Given the description of an element on the screen output the (x, y) to click on. 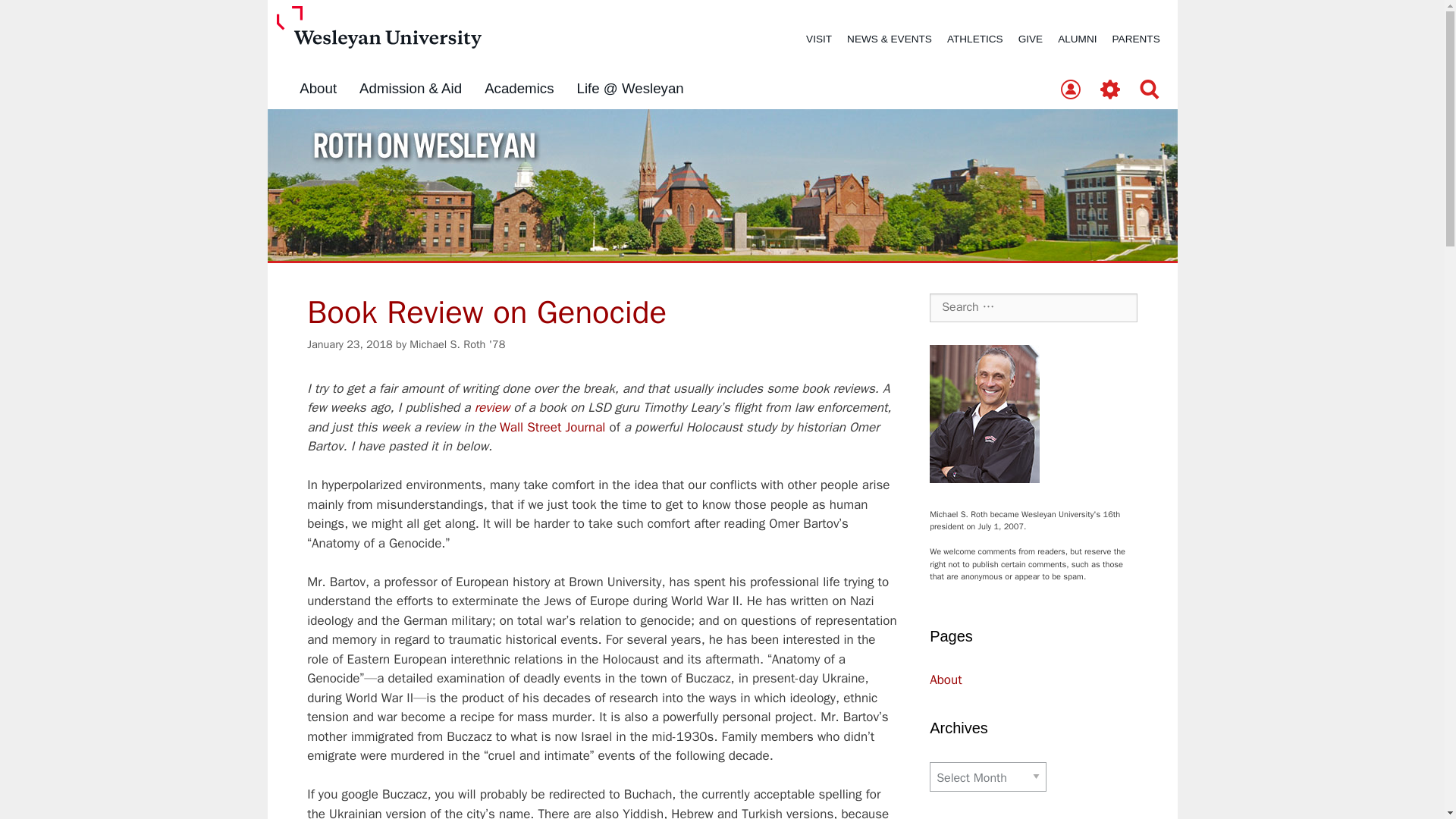
Search (1149, 90)
VISIT (818, 39)
ATHLETICS (974, 39)
GIVE (1029, 39)
About (945, 679)
Search (35, 18)
Academics (518, 89)
RSS feed (1052, 817)
View all posts by Michael S. Roth '78 (457, 344)
Wall Street Journal (552, 426)
